Given the description of an element on the screen output the (x, y) to click on. 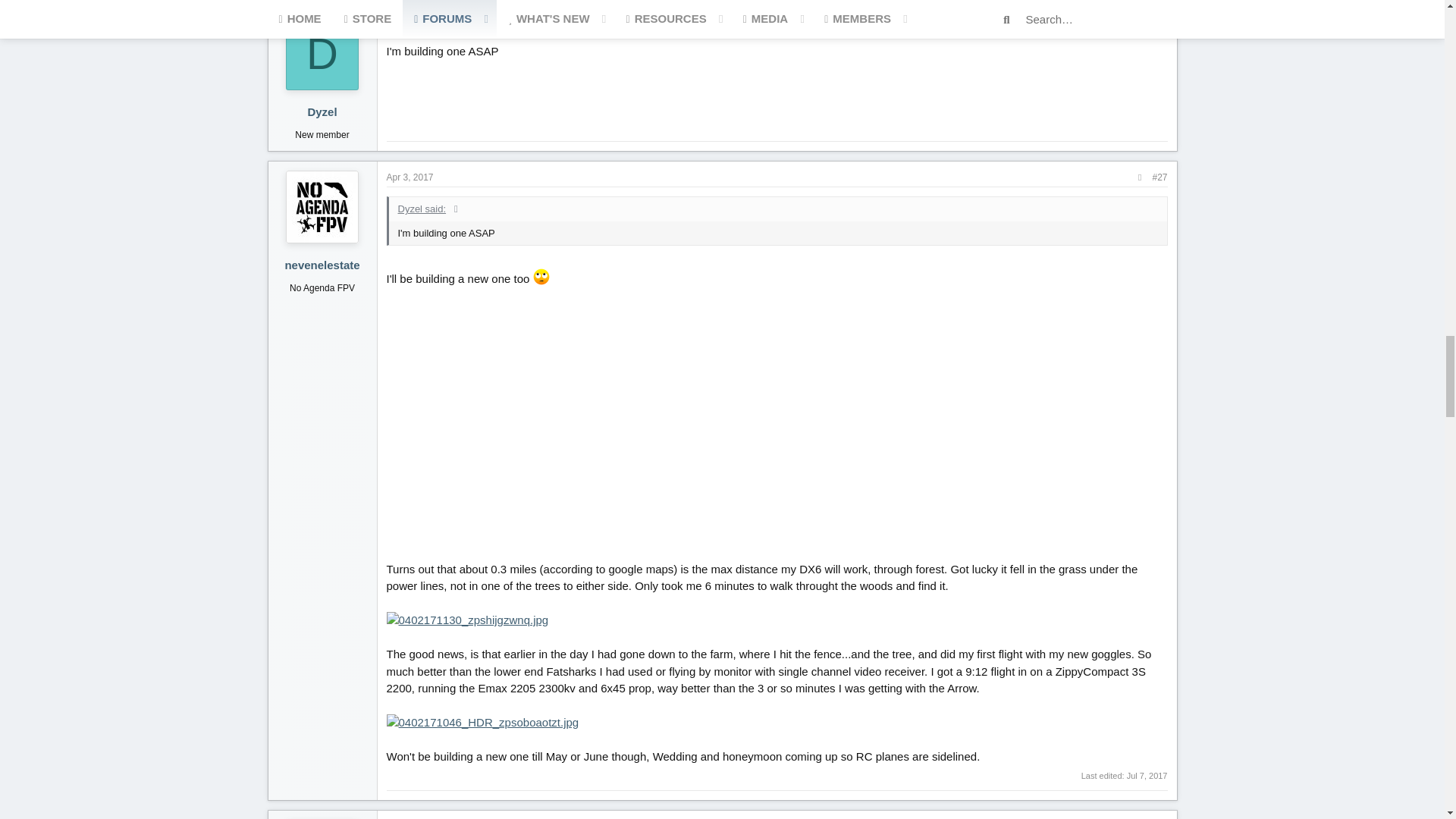
Apr 3, 2017 at 3:41 PM (410, 23)
Apr 3, 2017 at 4:08 PM (410, 176)
Roll eyes    :rolleyes: (541, 276)
